Given the description of an element on the screen output the (x, y) to click on. 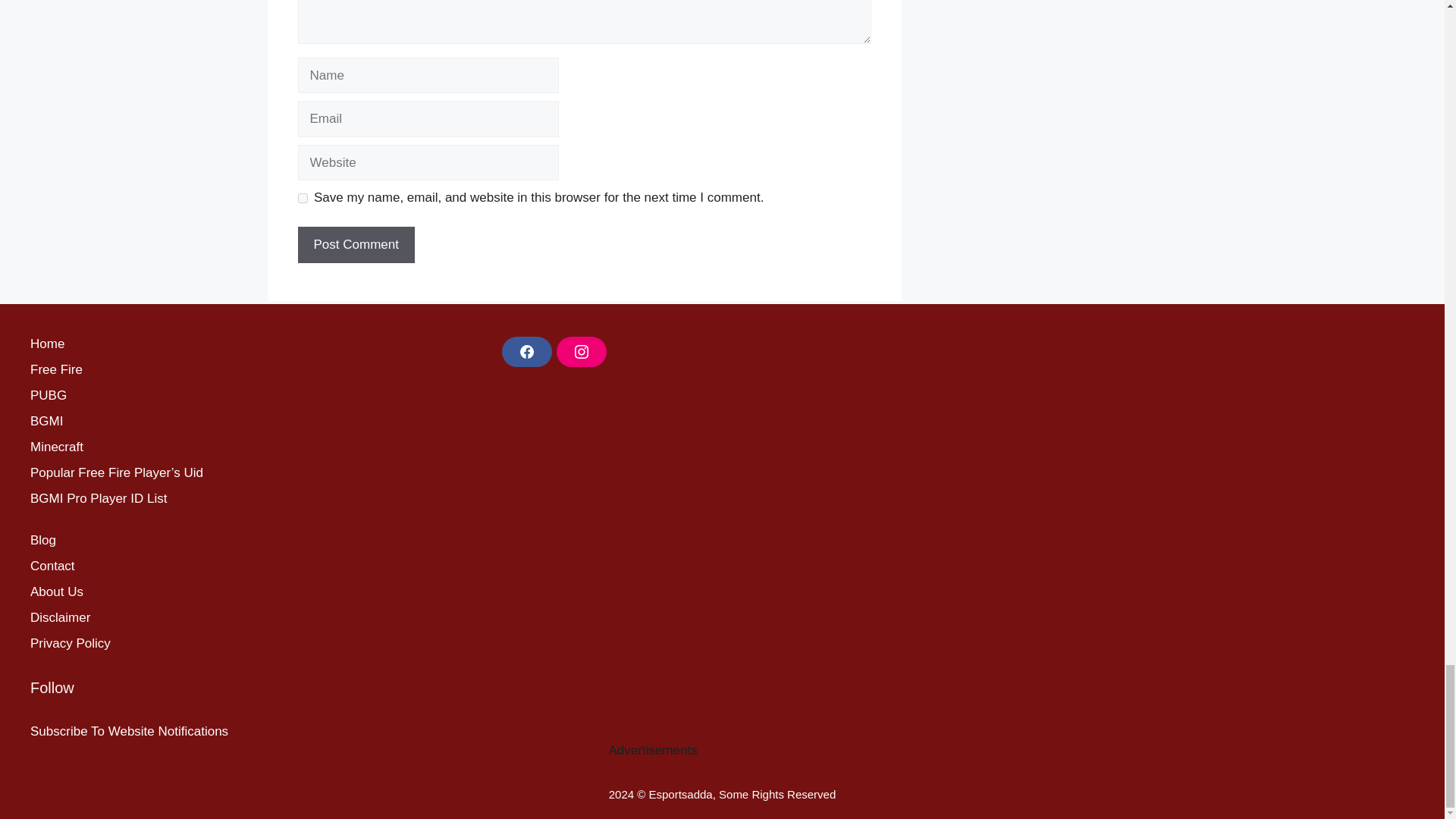
Free Fire (56, 369)
yes (302, 198)
Minecraft (56, 446)
BGMI Pro Player ID List (98, 498)
Instagram (581, 351)
Blog (43, 540)
Privacy Policy (70, 643)
PUBG (48, 395)
Post Comment (355, 244)
Post Comment (355, 244)
Disclaimer (60, 617)
BGMI (46, 421)
Home (47, 343)
Facebook (526, 351)
Contact (52, 565)
